Given the description of an element on the screen output the (x, y) to click on. 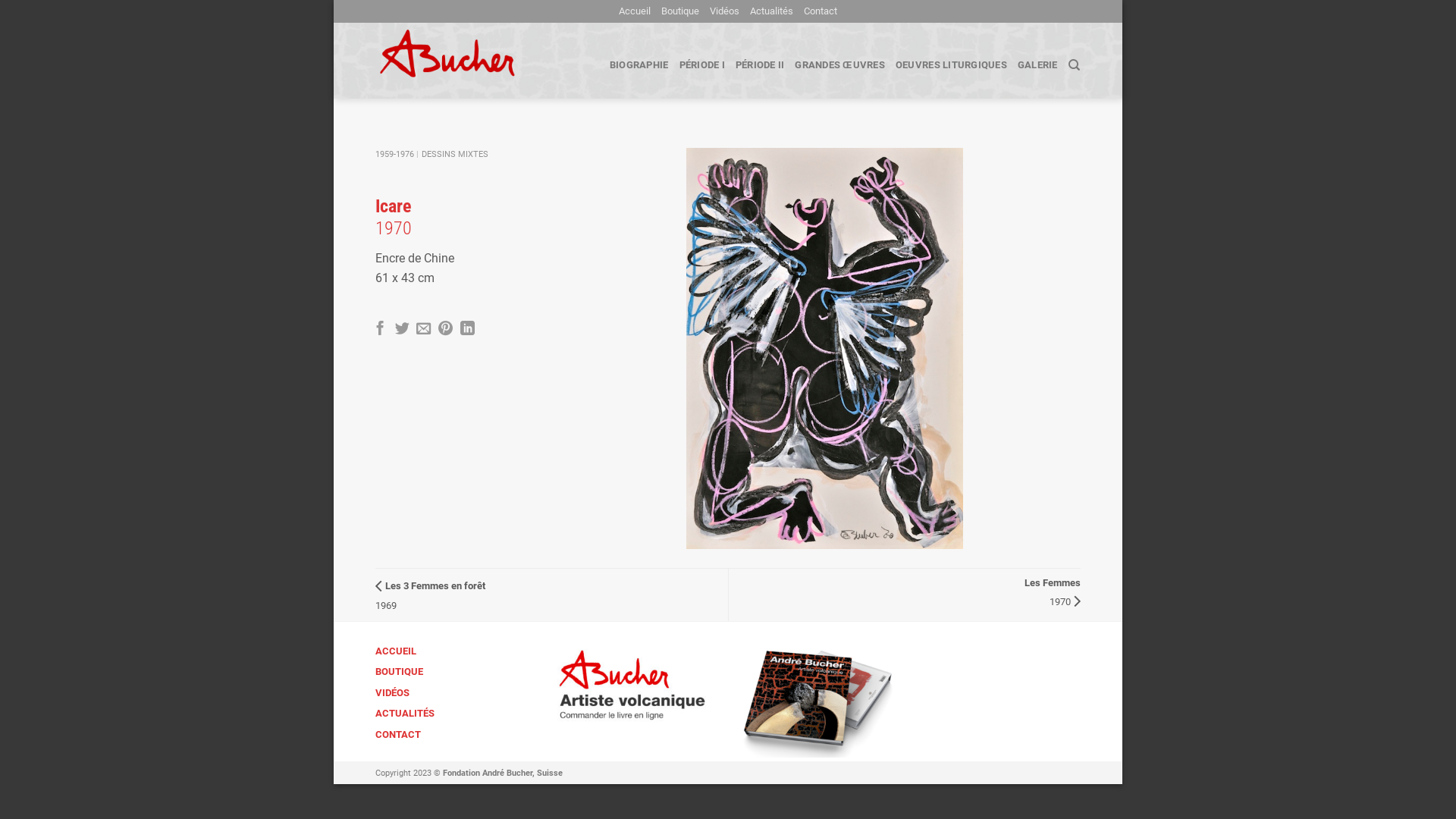
Boutique Element type: text (680, 11)
BIOGRAPHIE Element type: text (638, 65)
Envoyer par mail Element type: hover (423, 329)
Contact Element type: text (820, 11)
1959-1976 Element type: text (394, 154)
Les Femmes
1970 Element type: text (1052, 592)
ACCUEIL Element type: text (395, 651)
Epingler sur Pinterest Element type: hover (445, 329)
GALERIE Element type: text (1037, 65)
Partager sur Facebook Element type: hover (380, 329)
DESSINS MIXTES Element type: text (454, 154)
Partager sur Twitter Element type: hover (402, 329)
Share on LinkedIn Element type: hover (467, 329)
CONTACT Element type: text (397, 734)
OEUVRES LITURGIQUES Element type: text (951, 65)
BOUTIQUE Element type: text (399, 671)
Accueil Element type: text (634, 11)
